Given the description of an element on the screen output the (x, y) to click on. 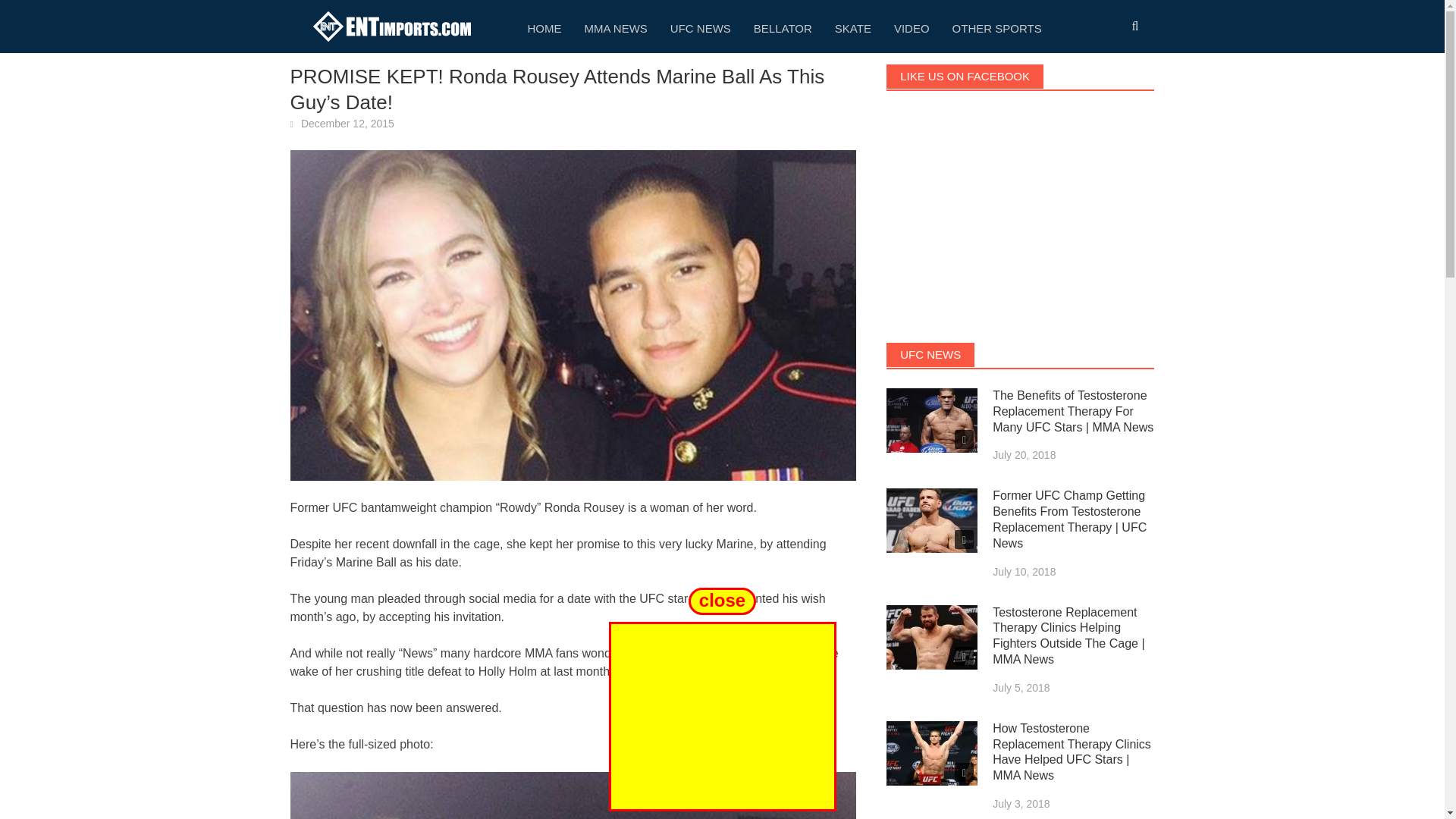
December 12, 2015 (347, 123)
SKATE (853, 26)
UFC NEWS (700, 26)
BELLATOR (783, 26)
HOME (543, 26)
OTHER SPORTS (996, 26)
MMA NEWS (616, 26)
VIDEO (911, 26)
